Given the description of an element on the screen output the (x, y) to click on. 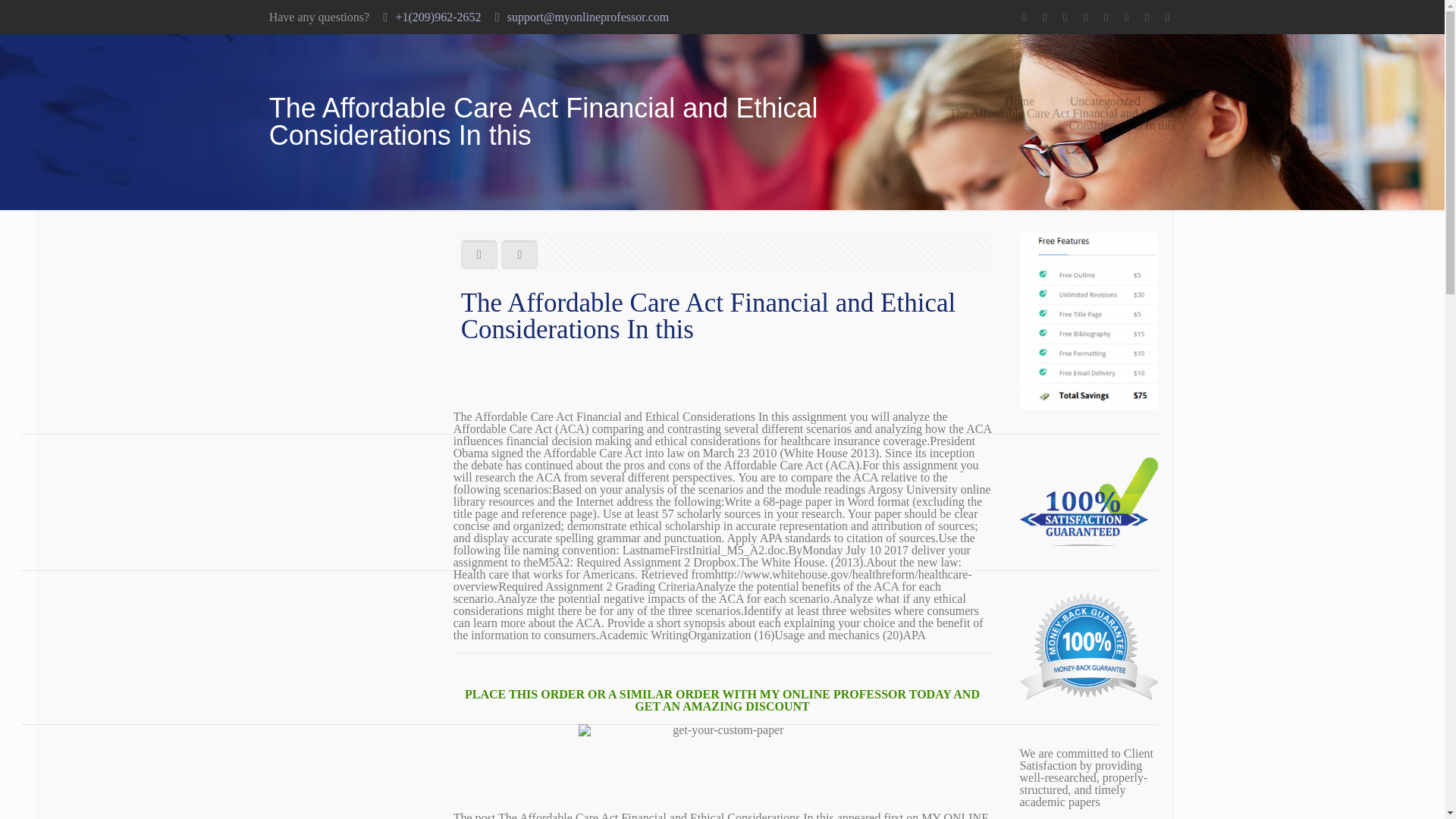
Facebook (1044, 17)
Home (1018, 101)
Twitter (1085, 17)
YouTube (1105, 17)
Instagram (1166, 17)
Skype (1024, 17)
Pinterest (1146, 17)
LinkedIn (1126, 17)
Uncategorized (1105, 101)
